Given the description of an element on the screen output the (x, y) to click on. 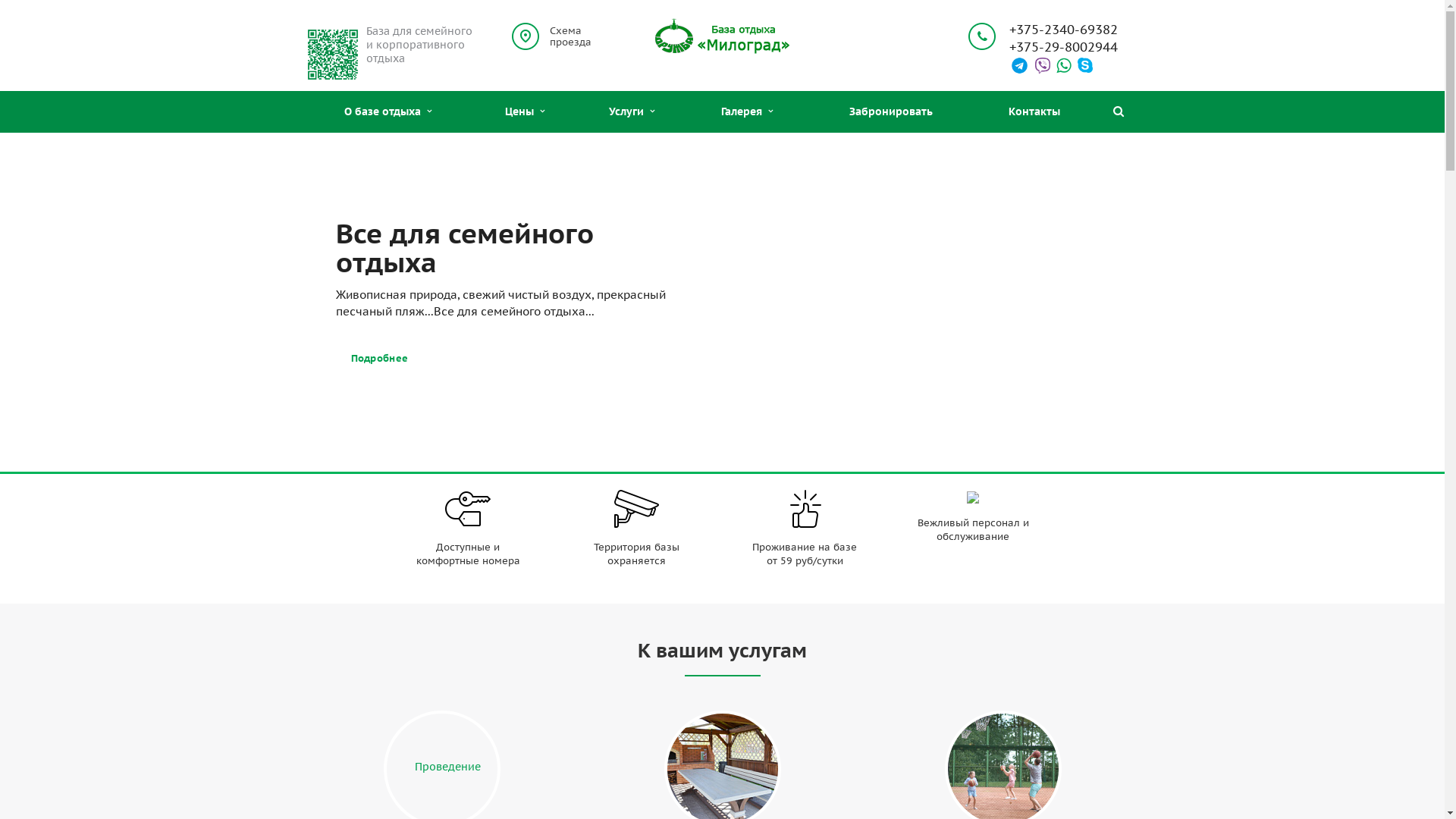
+375-29-8002944 Element type: text (1062, 47)
+375-2340-69382 Element type: text (1062, 29)
+375-2340-69382 Element type: text (1062, 29)
3 Element type: text (738, 454)
1 Element type: text (706, 454)
+375-29-8002944 Element type: text (1062, 47)
2 Element type: text (722, 454)
